Given the description of an element on the screen output the (x, y) to click on. 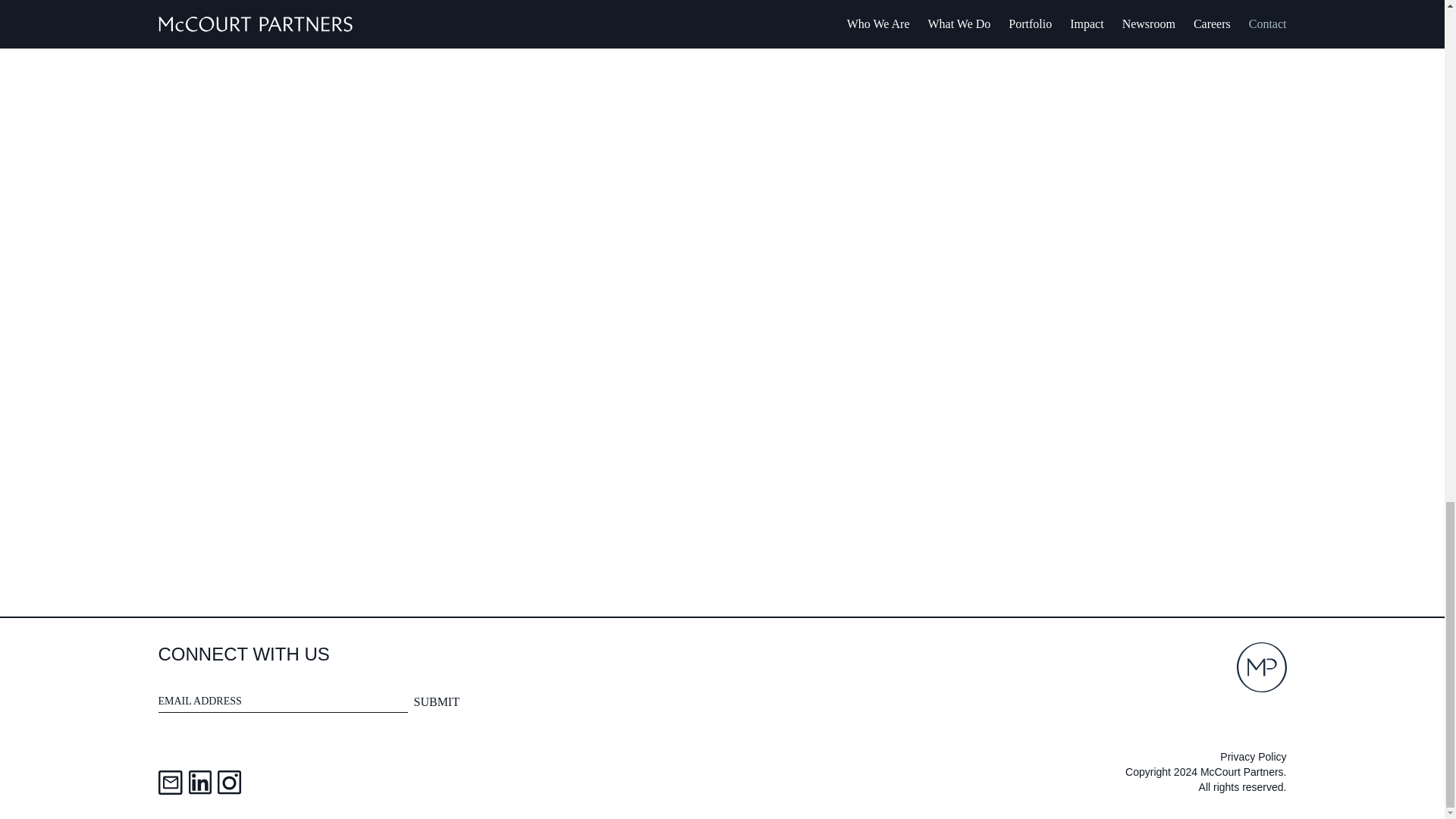
SUBMIT (436, 701)
Privacy Policy (1252, 756)
SUBMIT (436, 701)
